Given the description of an element on the screen output the (x, y) to click on. 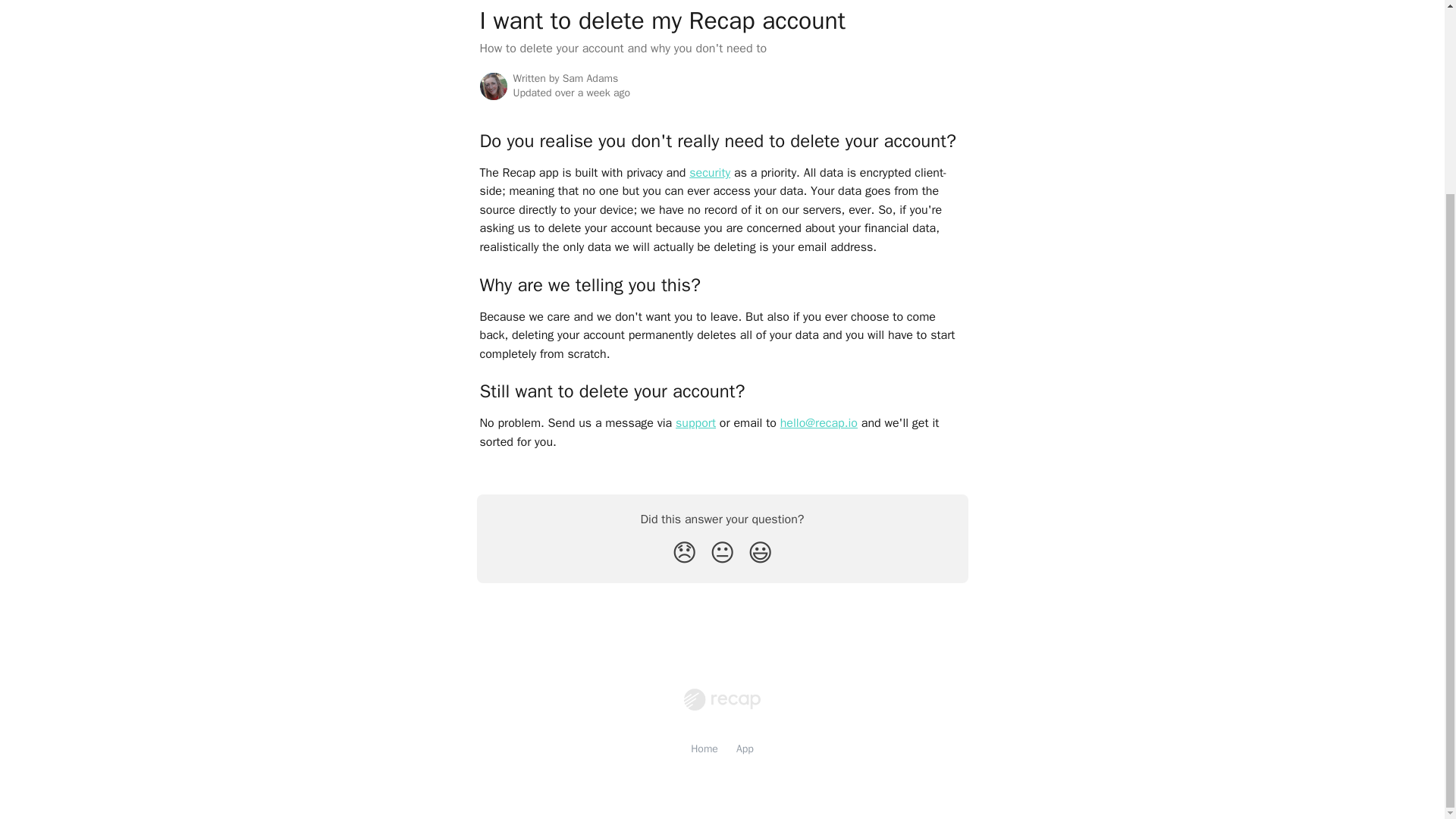
security (709, 172)
Home (703, 748)
App (745, 748)
support (695, 422)
